Given the description of an element on the screen output the (x, y) to click on. 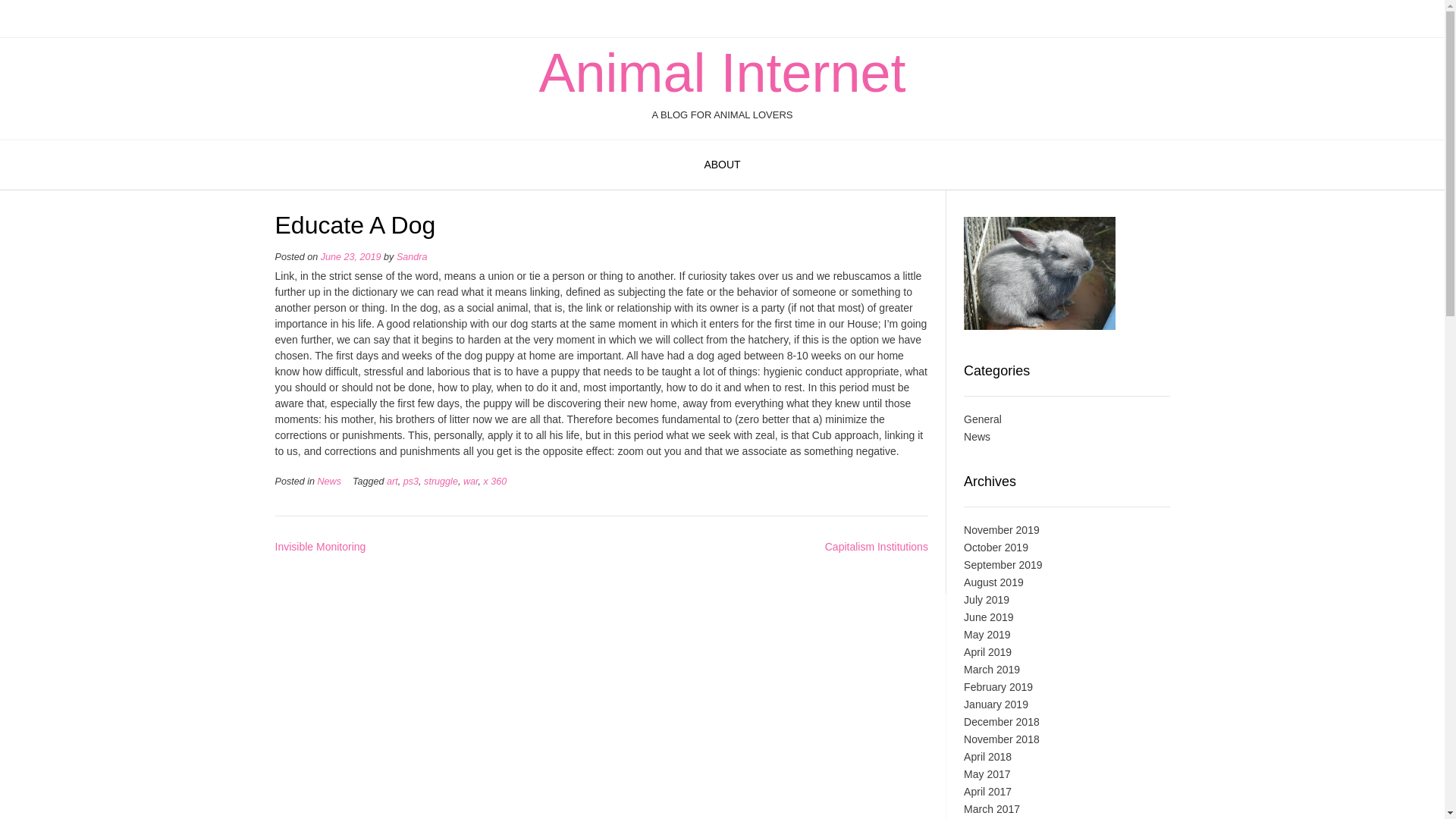
May 2019 (986, 634)
May 2017 (986, 774)
Animal Internet (721, 72)
x 360 (494, 480)
war (471, 480)
ps3 (411, 480)
June 23, 2019 (350, 256)
Invisible Monitoring (320, 546)
April 2018 (987, 756)
March 2019 (991, 669)
